Given the description of an element on the screen output the (x, y) to click on. 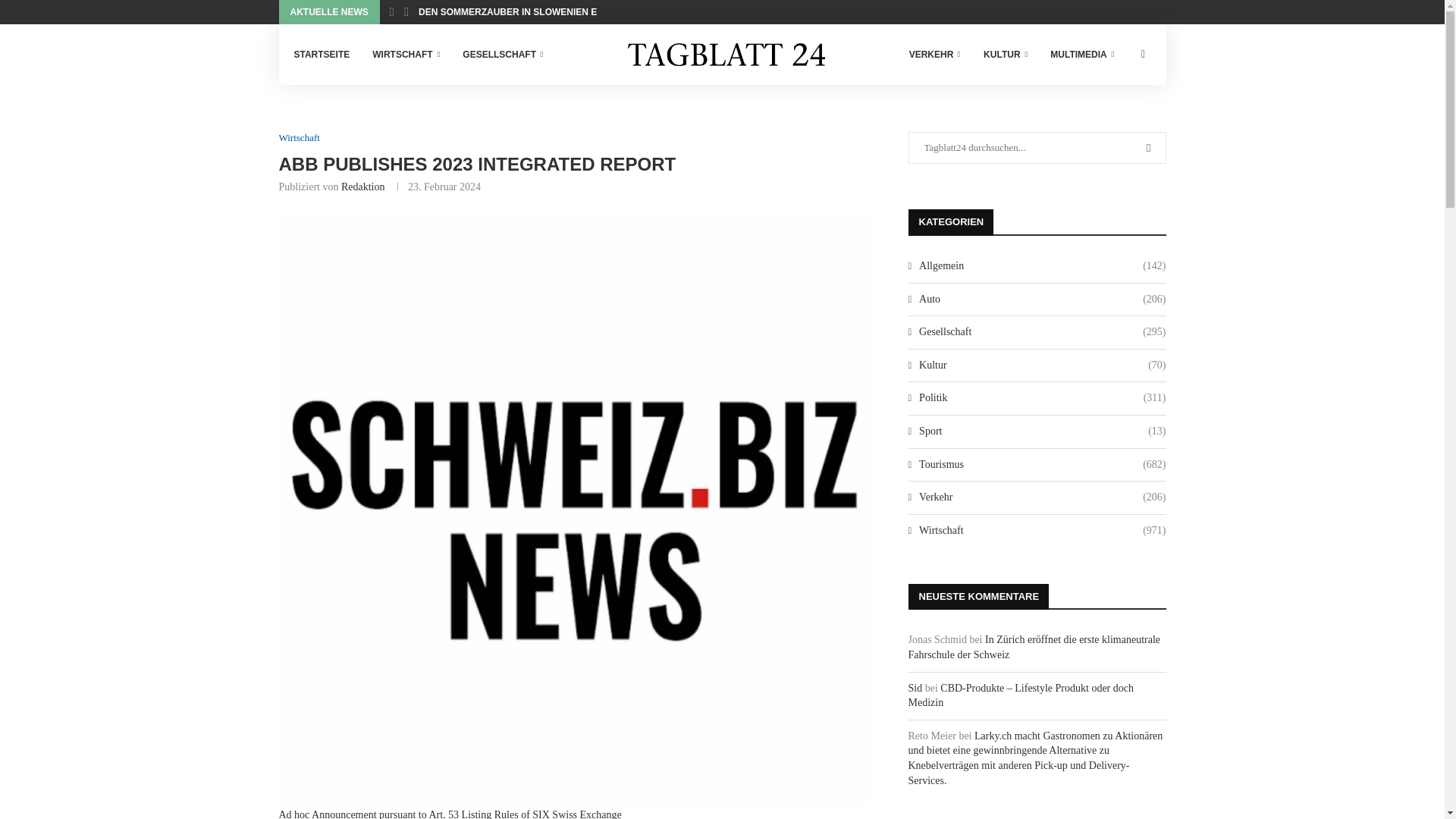
DEN SOMMERZAUBER IN SLOWENIEN ERLEBEN (526, 12)
STARTSEITE (322, 54)
GESELLSCHAFT (503, 54)
WIRTSCHAFT (405, 54)
Wirtschaft (299, 137)
MULTIMEDIA (1081, 54)
Redaktion (362, 186)
